Given the description of an element on the screen output the (x, y) to click on. 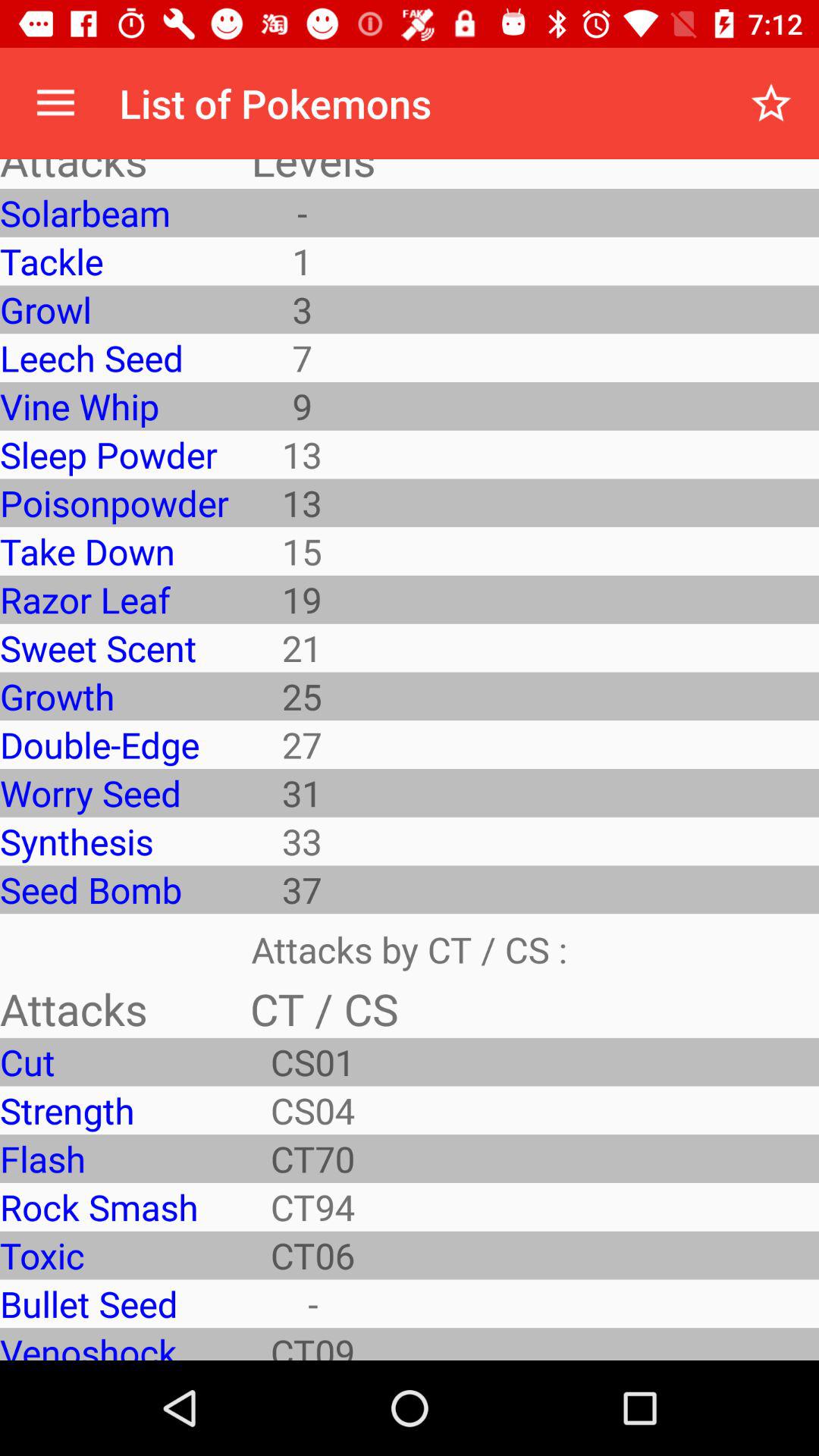
tap item to the left of 31 icon (114, 841)
